Given the description of an element on the screen output the (x, y) to click on. 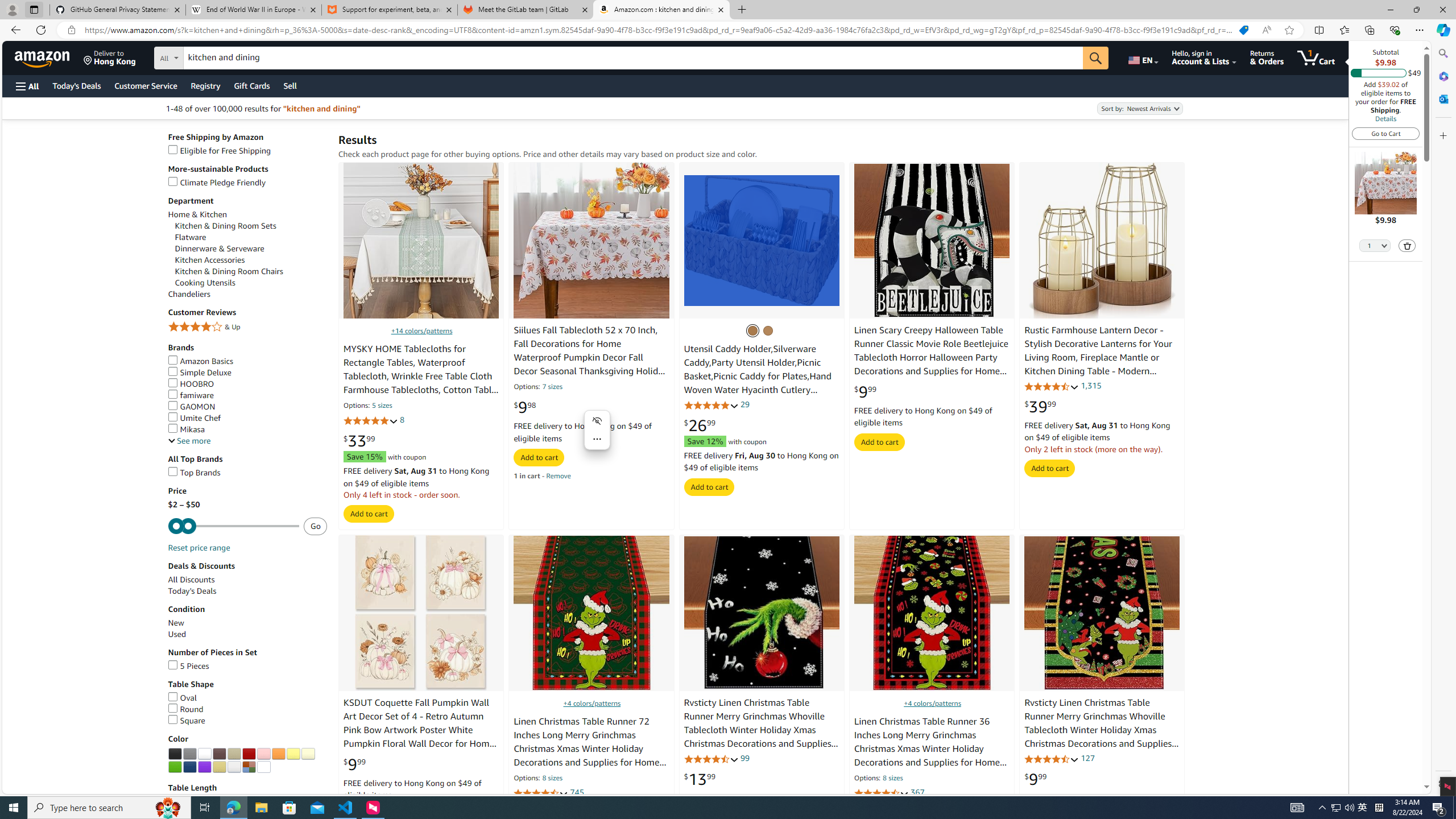
4.8 out of 5 stars (711, 405)
Home & Kitchen (197, 214)
Brown (218, 753)
Dinnerware & Serveware (250, 248)
AutomationID: p_n_feature_twenty_browse-bin/3254113011 (248, 766)
AutomationID: p_n_feature_twenty_browse-bin/3254110011 (204, 766)
1,315 (1091, 384)
HOOBRO (247, 384)
AutomationID: p_n_feature_twenty_browse-bin/3254109011 (189, 766)
Simple Deluxe (199, 372)
GAOMON (191, 406)
Multi (248, 766)
Mini menu on text selection (597, 429)
